Given the description of an element on the screen output the (x, y) to click on. 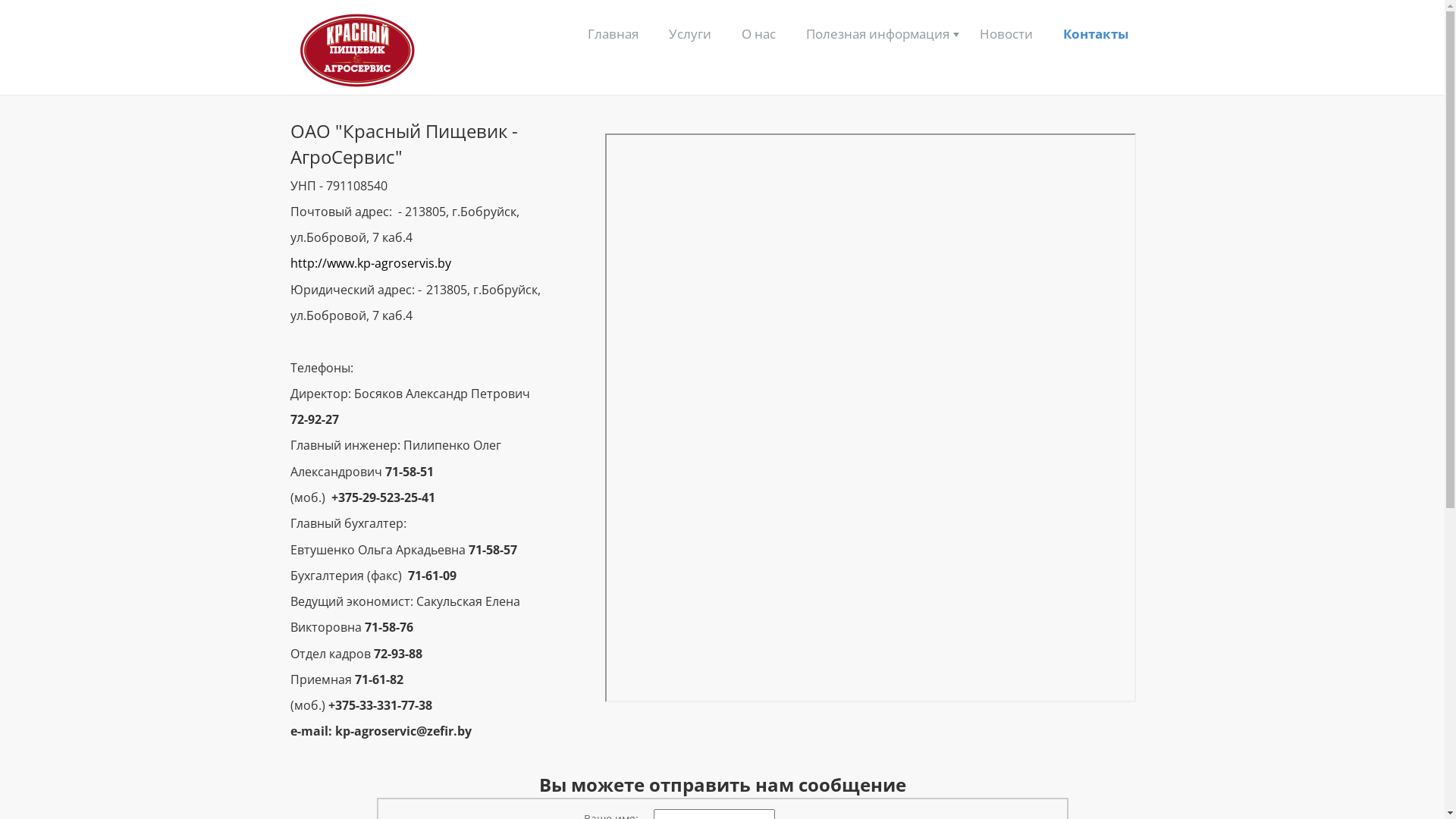
http://www.kp-agroservis.by Element type: text (369, 262)
